Given the description of an element on the screen output the (x, y) to click on. 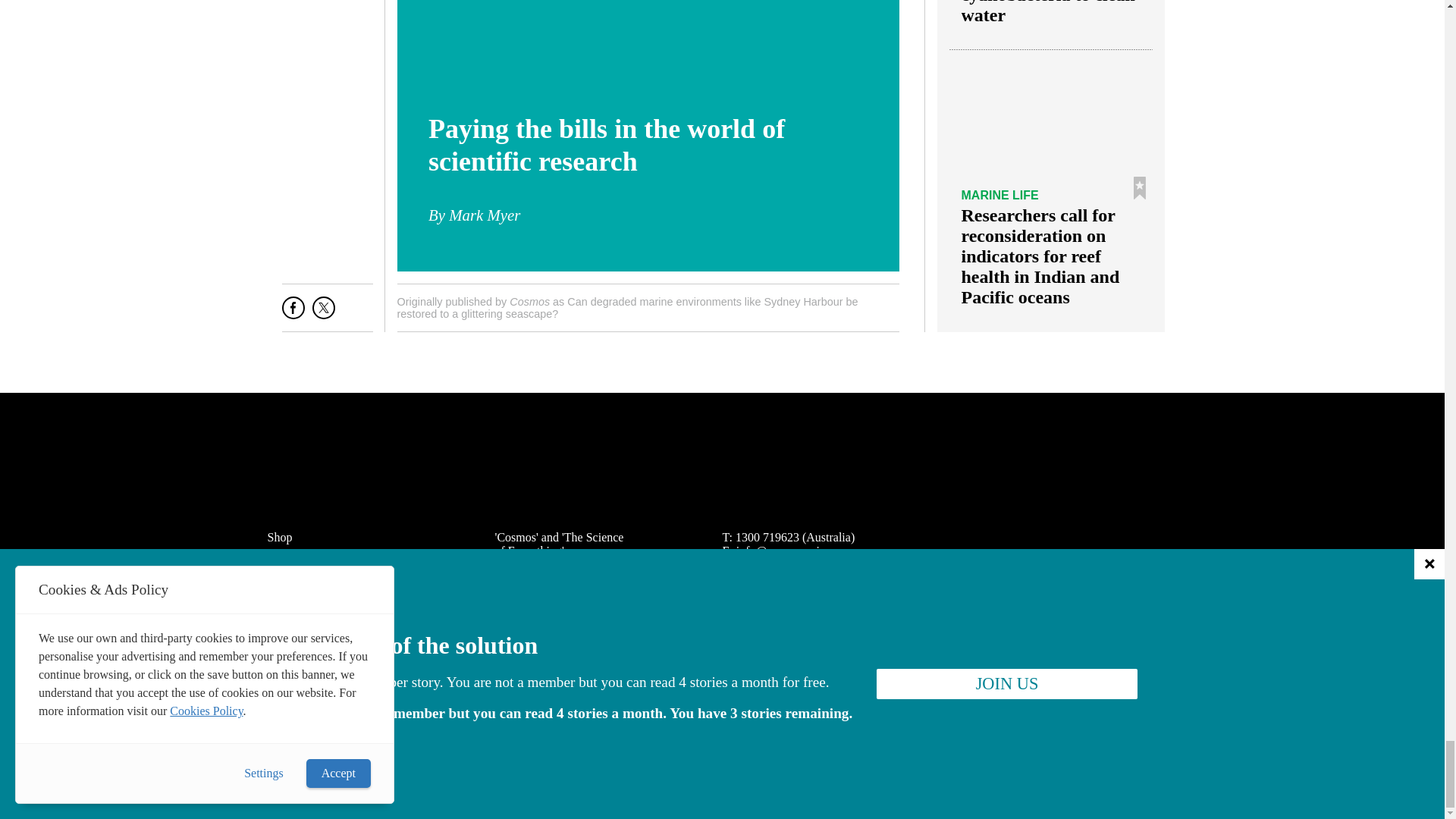
Share on Facebook (293, 313)
Tweet (323, 313)
